Given the description of an element on the screen output the (x, y) to click on. 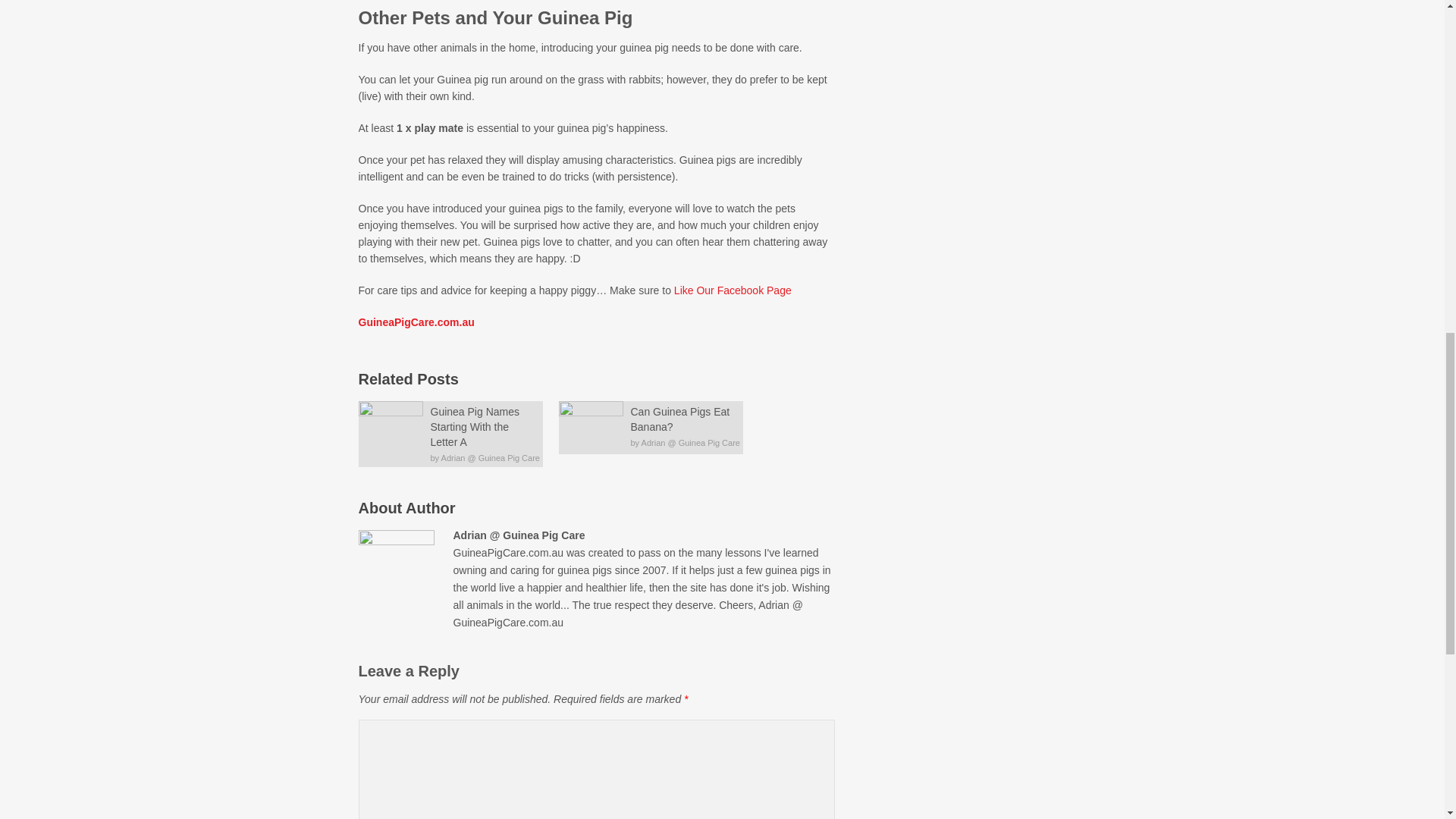
Guinea Pig Care (416, 322)
Guinea Pig Care on Facebook (733, 290)
Like Our Facebook Page (733, 290)
GuineaPigCare.com.au (416, 322)
